Given the description of an element on the screen output the (x, y) to click on. 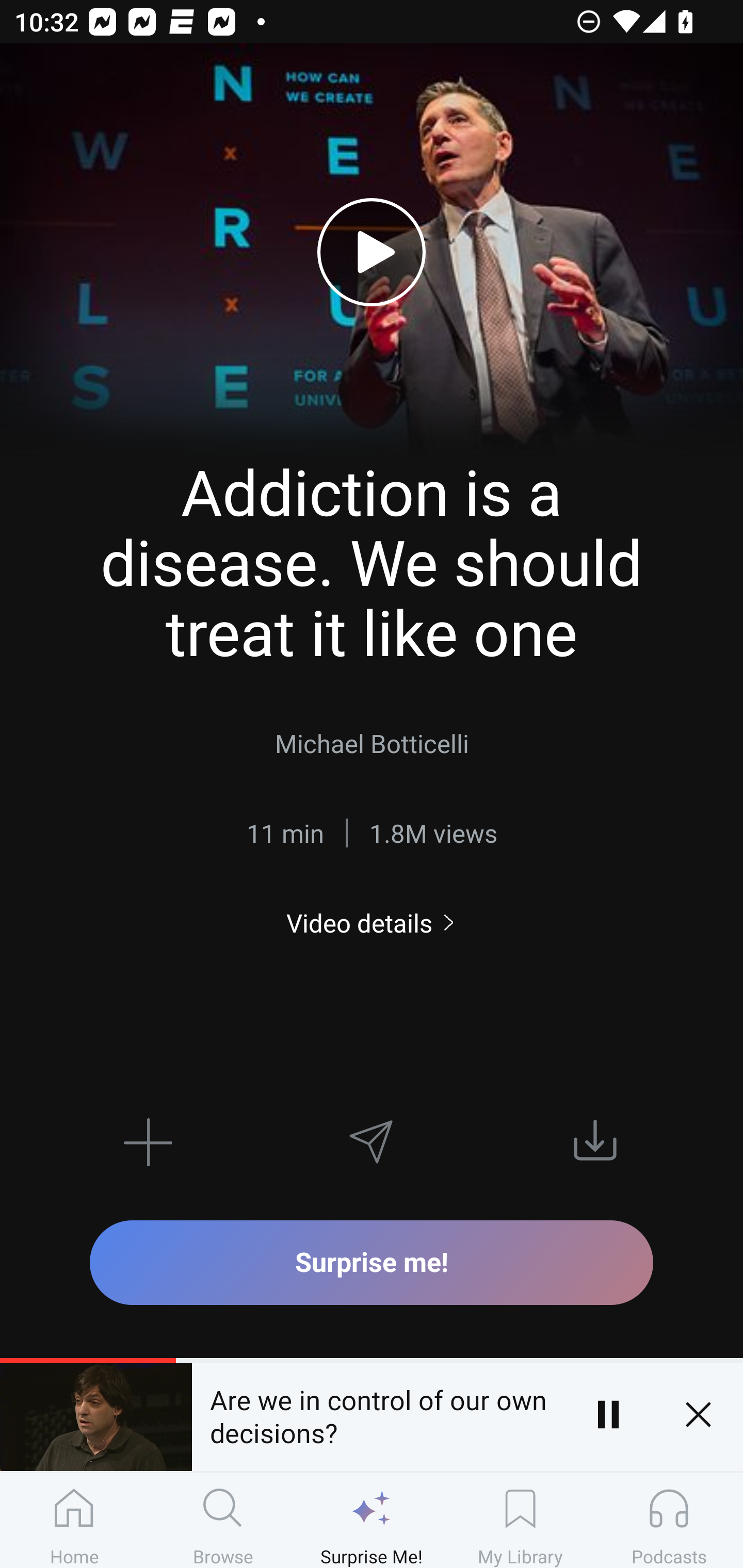
Video details (371, 922)
Surprise me! (371, 1261)
Are we in control of our own decisions? (377, 1413)
Home (74, 1520)
Browse (222, 1520)
Surprise Me! (371, 1520)
My Library (519, 1520)
Podcasts (668, 1520)
